Given the description of an element on the screen output the (x, y) to click on. 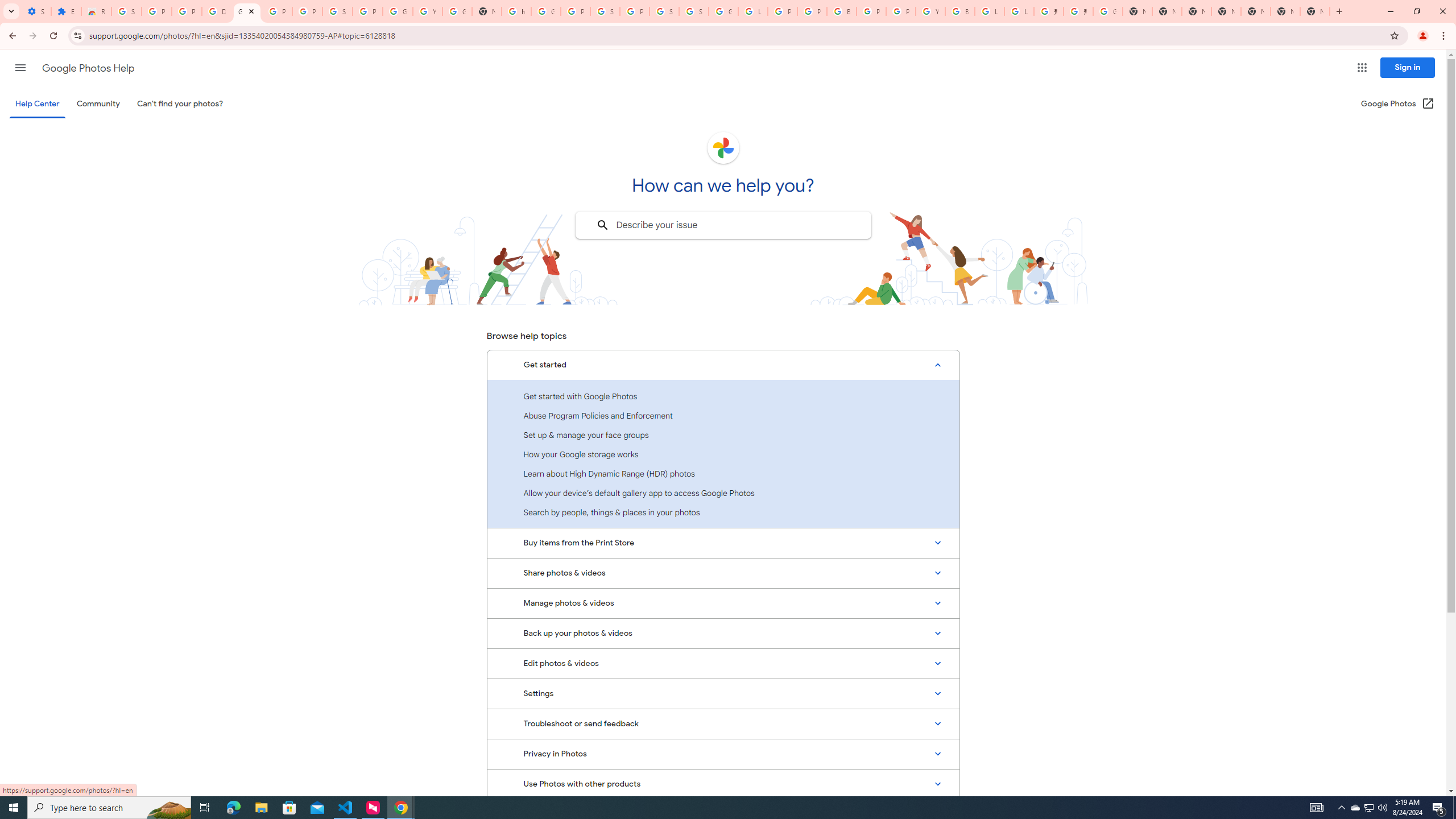
Google Images (1107, 11)
Main menu (20, 67)
Google Account (397, 11)
Buy items from the Print Store (722, 542)
Can't find your photos? (180, 103)
Edit photos & videos (722, 663)
